Given the description of an element on the screen output the (x, y) to click on. 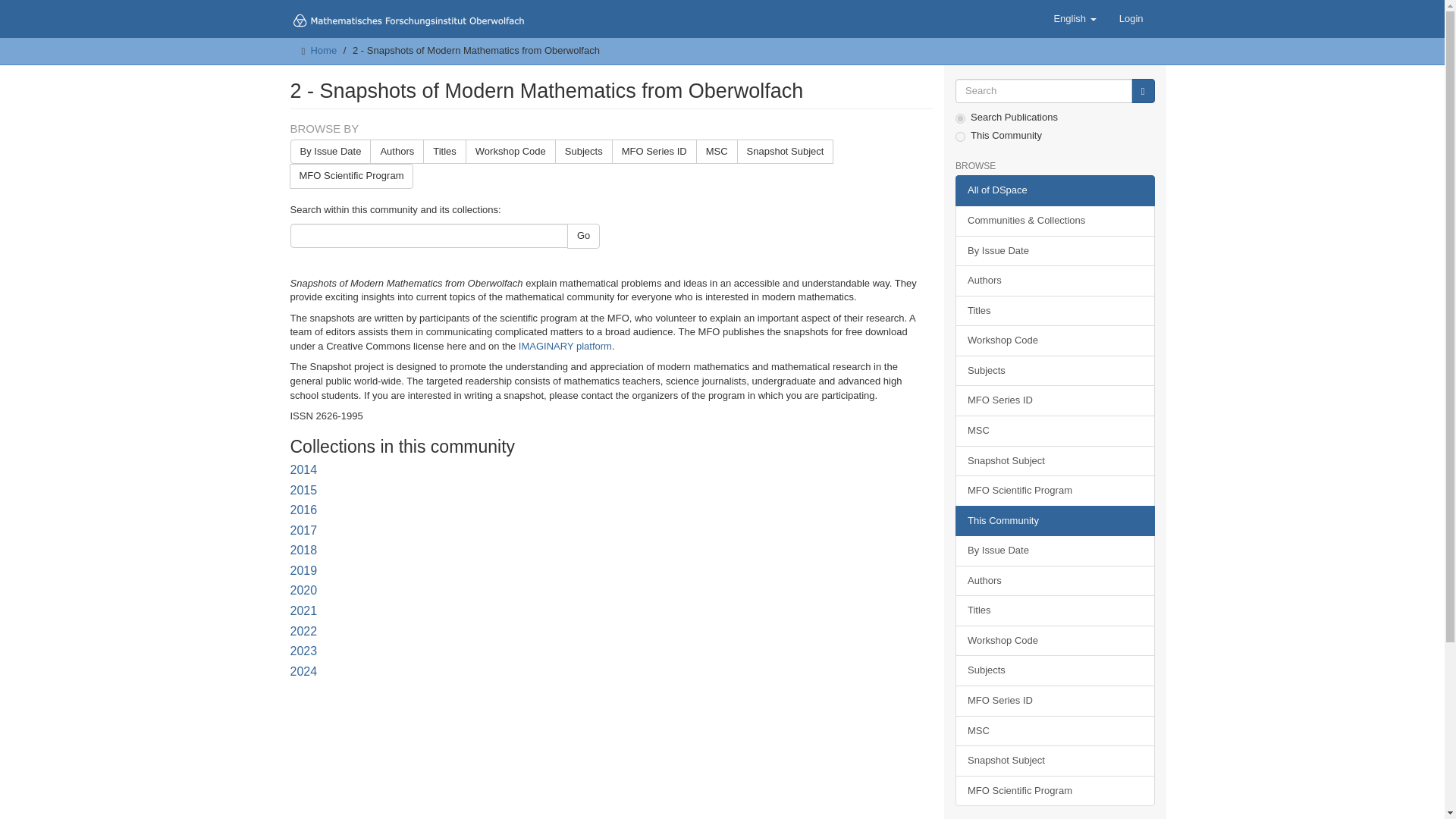
2018 (303, 549)
2021 (303, 610)
2015 (303, 490)
Titles (444, 151)
Login (1131, 18)
Subjects (583, 151)
Workshop Code (510, 151)
IMAGINARY platform (564, 346)
By Issue Date (330, 151)
MFO Scientific Program (351, 176)
2022 (303, 631)
English  (1074, 18)
Home (323, 50)
Go (1142, 91)
2024 (303, 671)
